Given the description of an element on the screen output the (x, y) to click on. 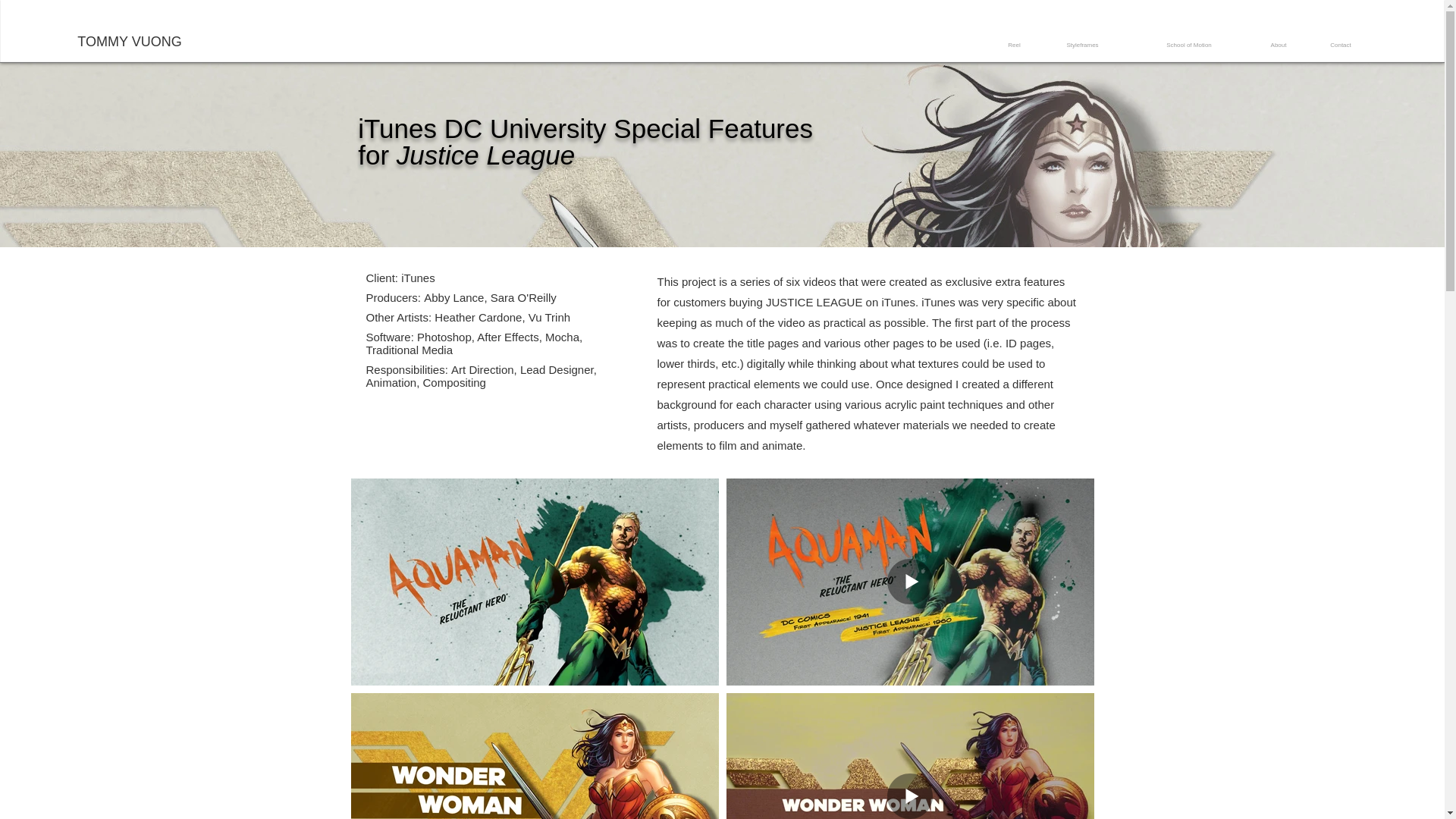
Contact (1340, 45)
About (1278, 45)
Styleframes (1081, 45)
TOMMY VUONG (129, 42)
Reel (1013, 45)
